Given the description of an element on the screen output the (x, y) to click on. 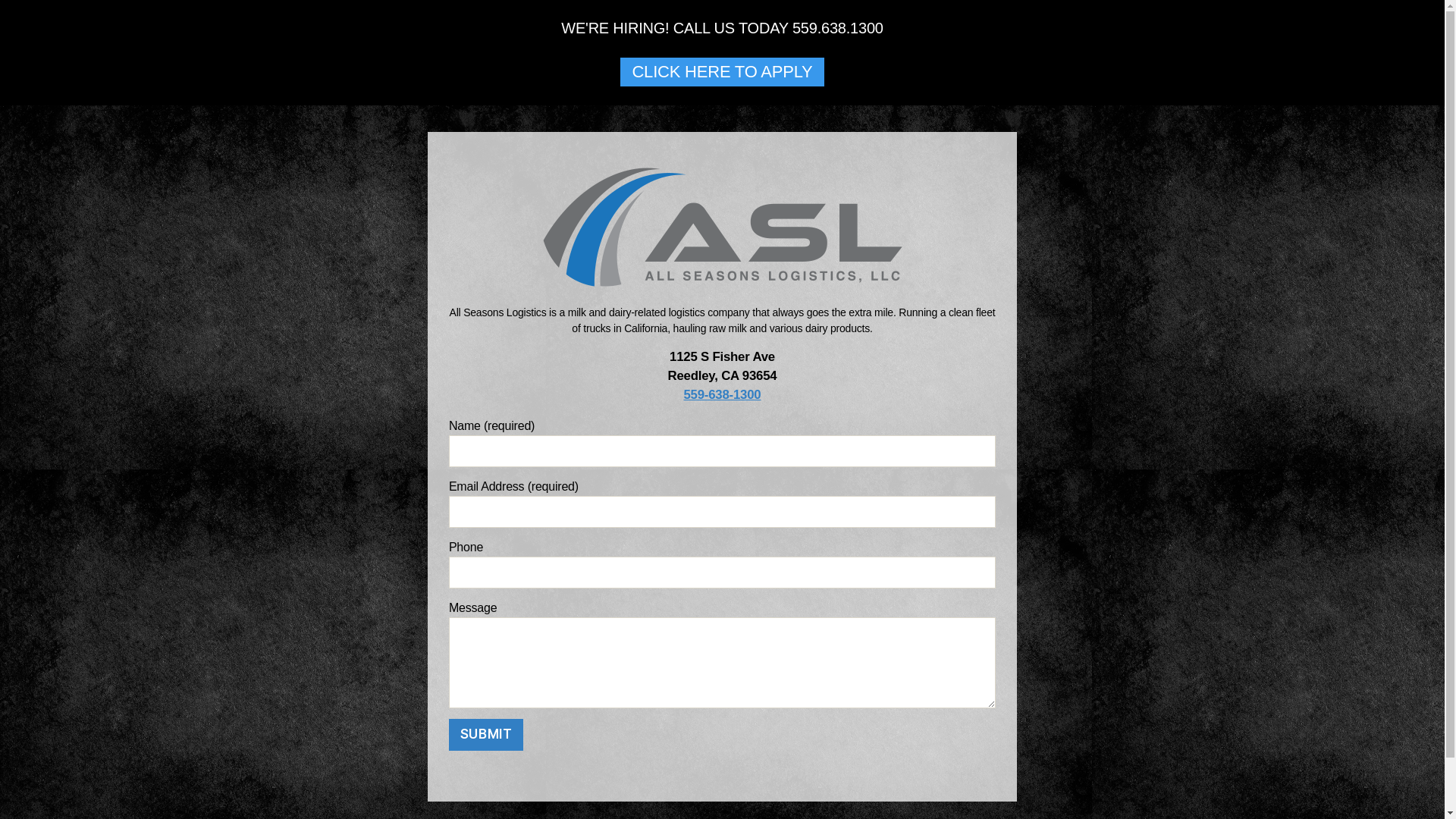
Submit Element type: text (485, 733)
559-638-1300 Element type: text (722, 394)
CLICK HERE TO APPLY Element type: text (721, 71)
